Given the description of an element on the screen output the (x, y) to click on. 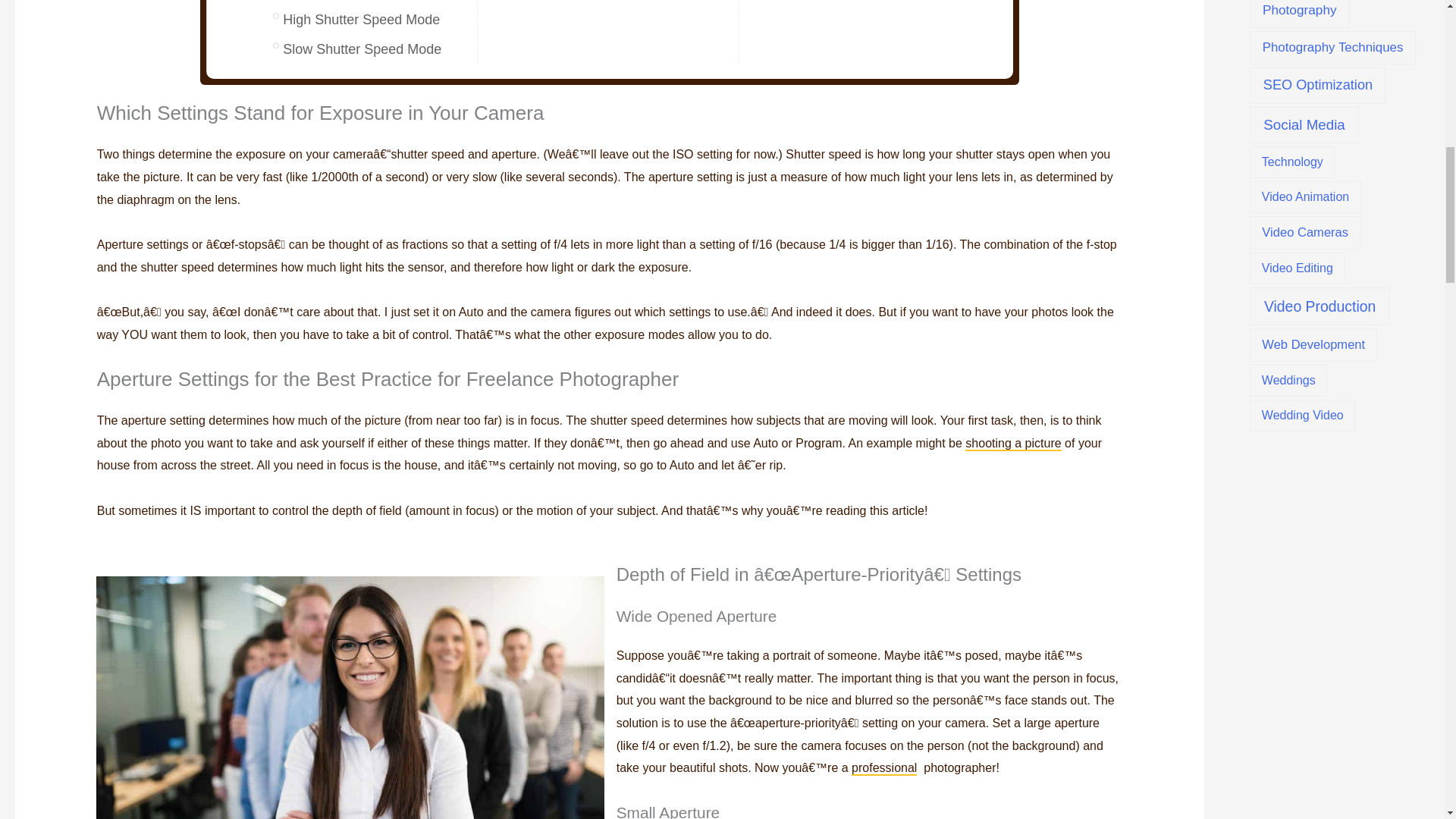
shooting a picture (1013, 443)
High Shutter Speed Mode (360, 20)
Slow Shutter Speed Mode (361, 49)
professional (884, 768)
Slow Shutter Speed Mode (361, 49)
High Shutter Speed Mode (360, 20)
